Given the description of an element on the screen output the (x, y) to click on. 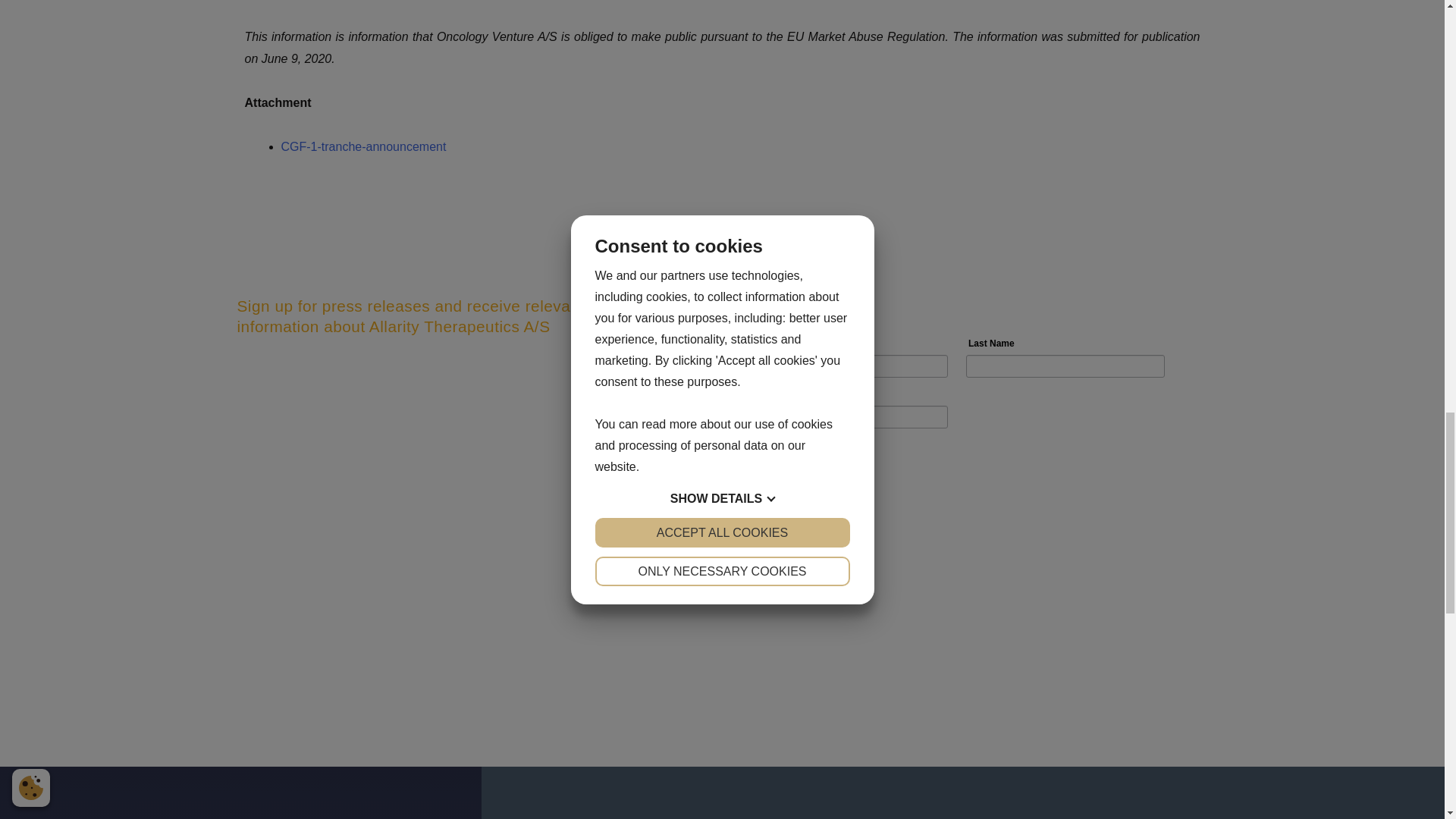
CGF-1-tranche-announcement (363, 146)
